Given the description of an element on the screen output the (x, y) to click on. 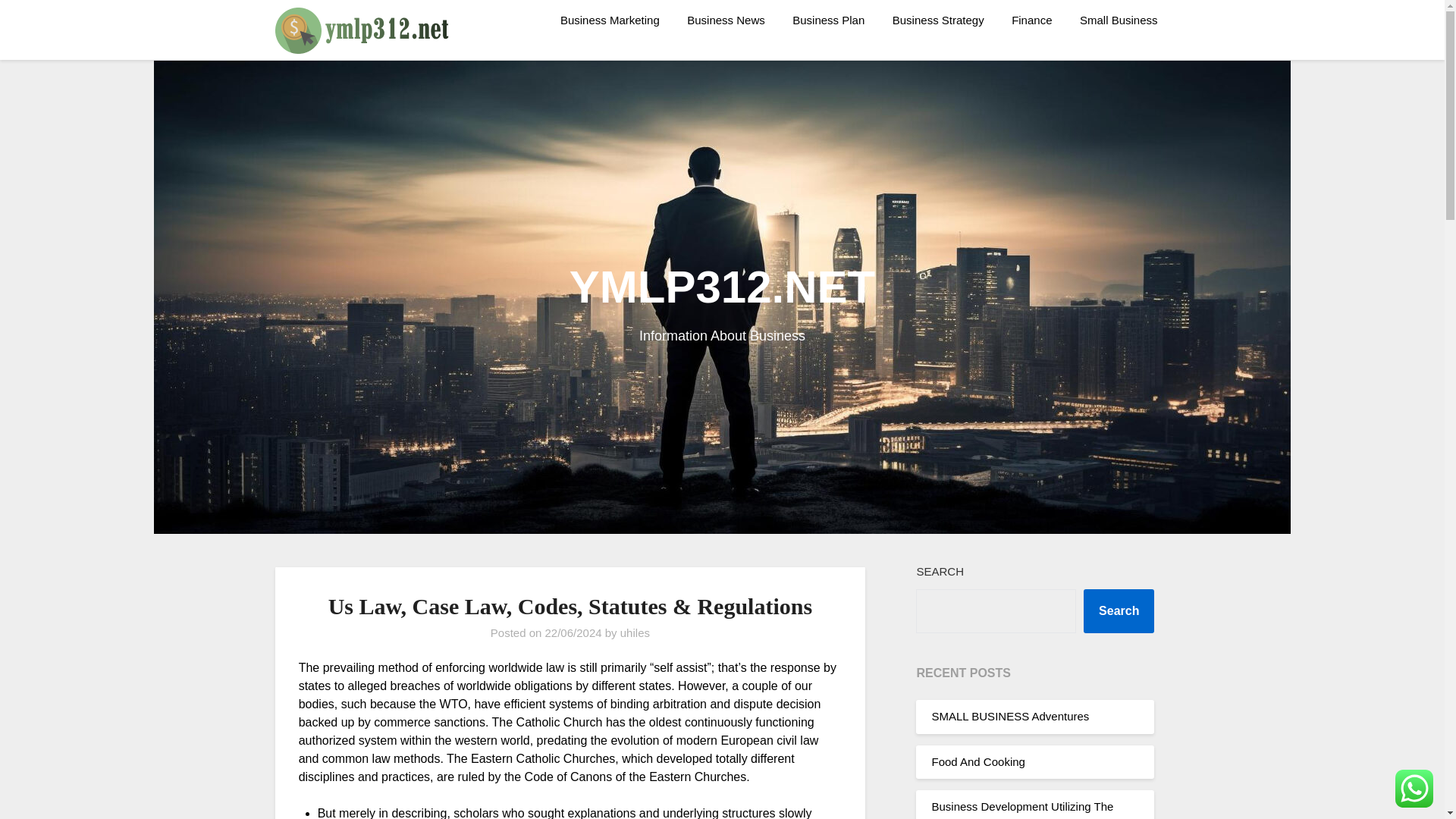
Search (1118, 610)
Small Business (1118, 20)
Finance (1031, 20)
Business News (726, 20)
Business Marketing (609, 20)
Business Development Utilizing The CEO Plan (1022, 809)
SMALL BUSINESS Adventures (1010, 716)
Food And Cooking (978, 761)
Business Plan (828, 20)
uhiles (634, 632)
